Given the description of an element on the screen output the (x, y) to click on. 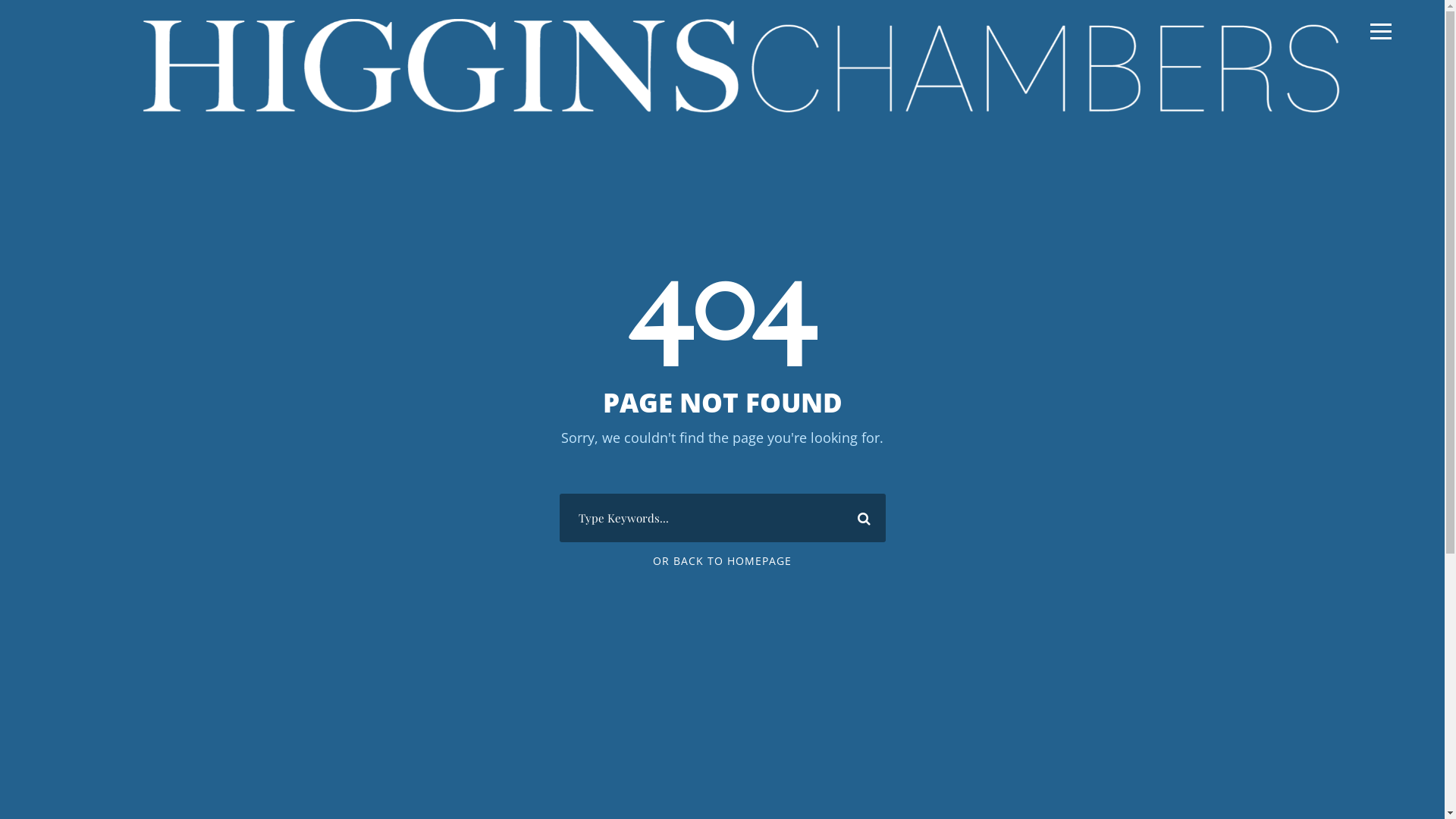
OR BACK TO HOMEPAGE Element type: text (721, 560)
2022-01-19 Element type: hover (741, 65)
Search Element type: text (858, 517)
